Given the description of an element on the screen output the (x, y) to click on. 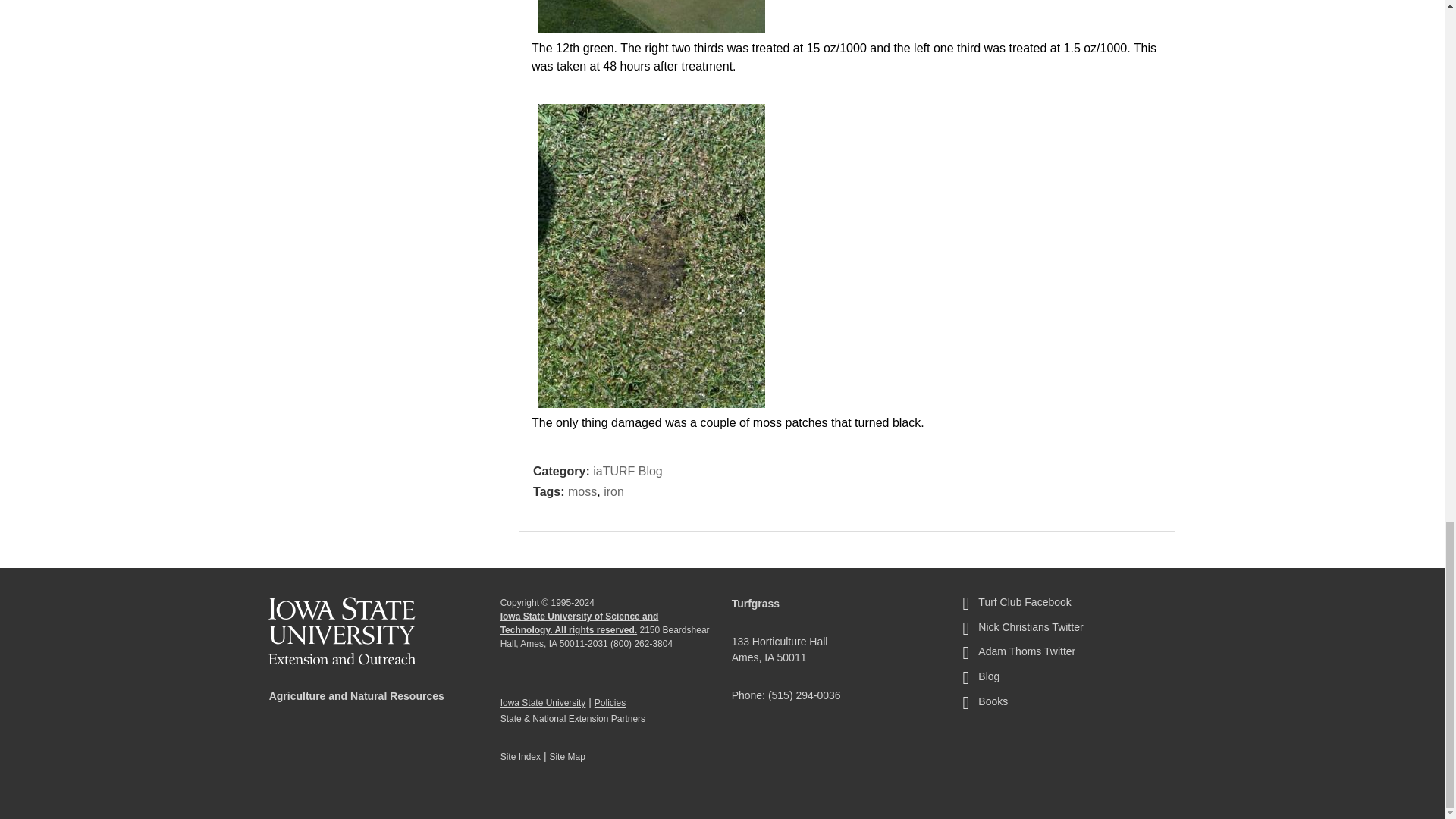
moss (581, 492)
Policies (610, 702)
Adam Thoms Twitter (1066, 654)
iron (614, 492)
Turf Club Facebook (1066, 605)
Blog (1066, 680)
iaTURF Blog (627, 471)
Site Map (566, 756)
Iowa State University (543, 702)
